Given the description of an element on the screen output the (x, y) to click on. 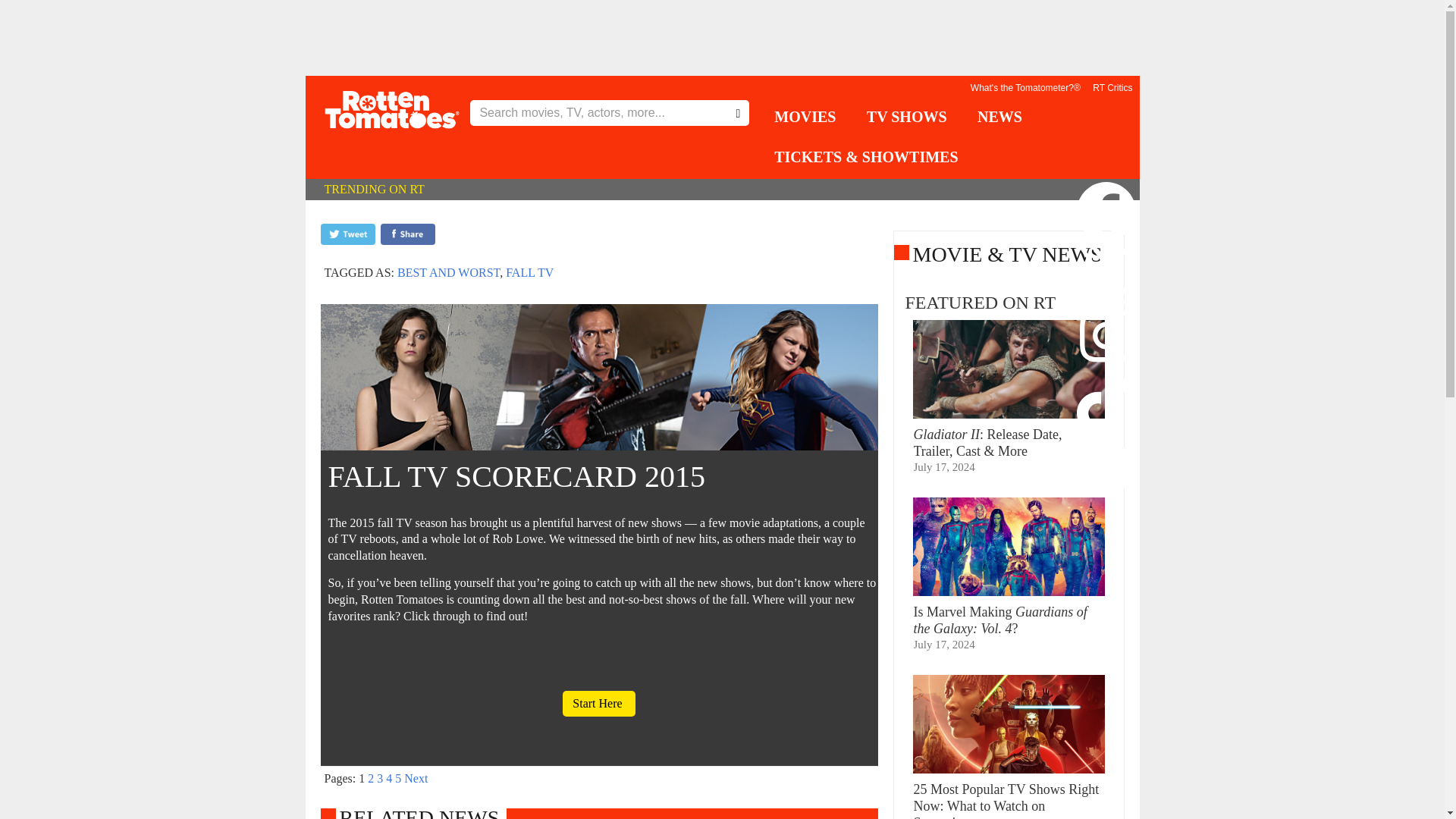
BEST AND WORST (448, 272)
NEWS (999, 117)
MOVIES (804, 117)
RT Critics (1112, 88)
TV SHOWS (906, 117)
